Given the description of an element on the screen output the (x, y) to click on. 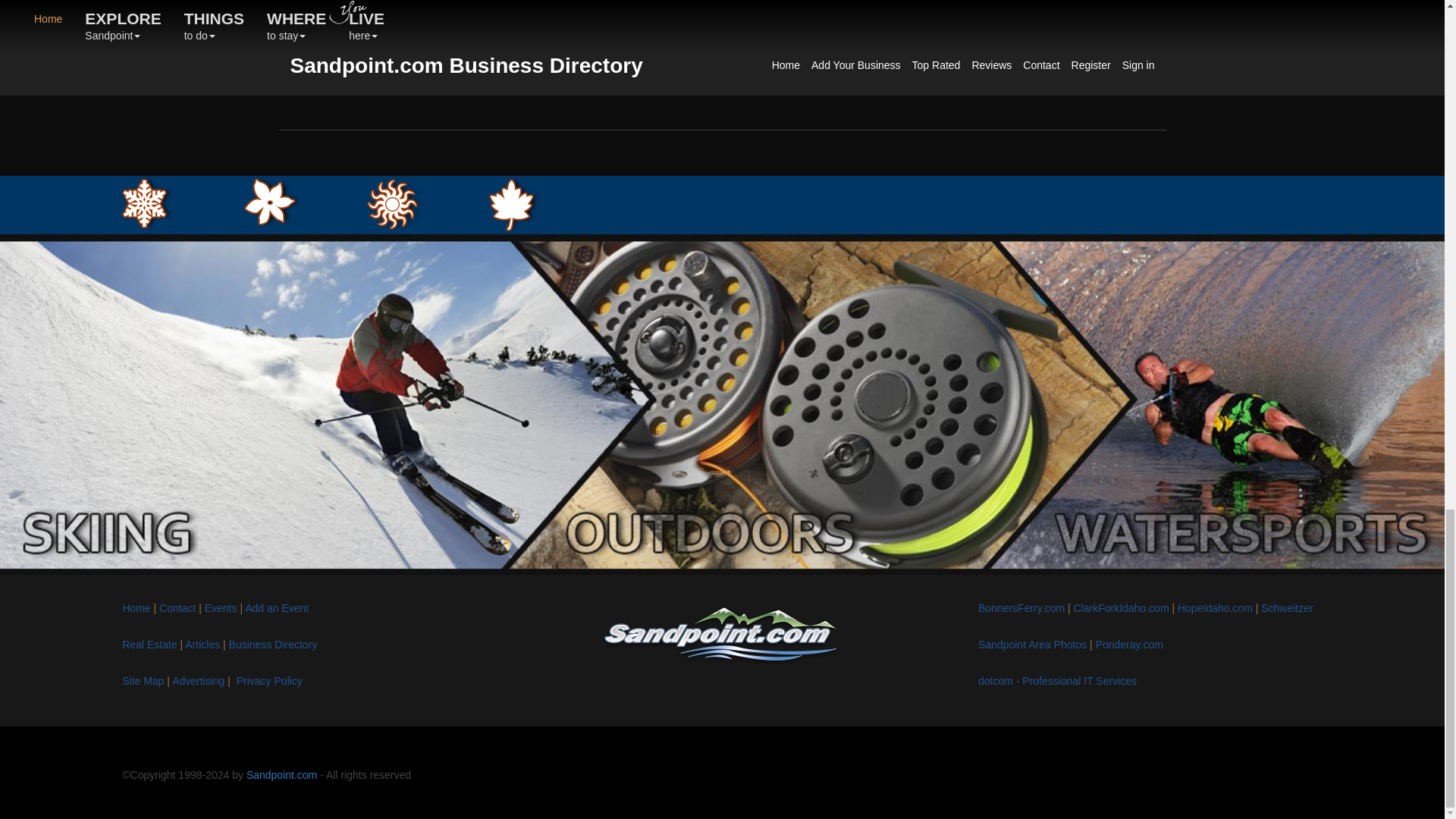
Spring Activities in Sandpoint (273, 202)
Summer Activities in Sandpoint (395, 204)
Sandpoint.com the official website of Sandpoint, Idaho (721, 634)
Winter Activities in Sandpoint (147, 203)
